Given the description of an element on the screen output the (x, y) to click on. 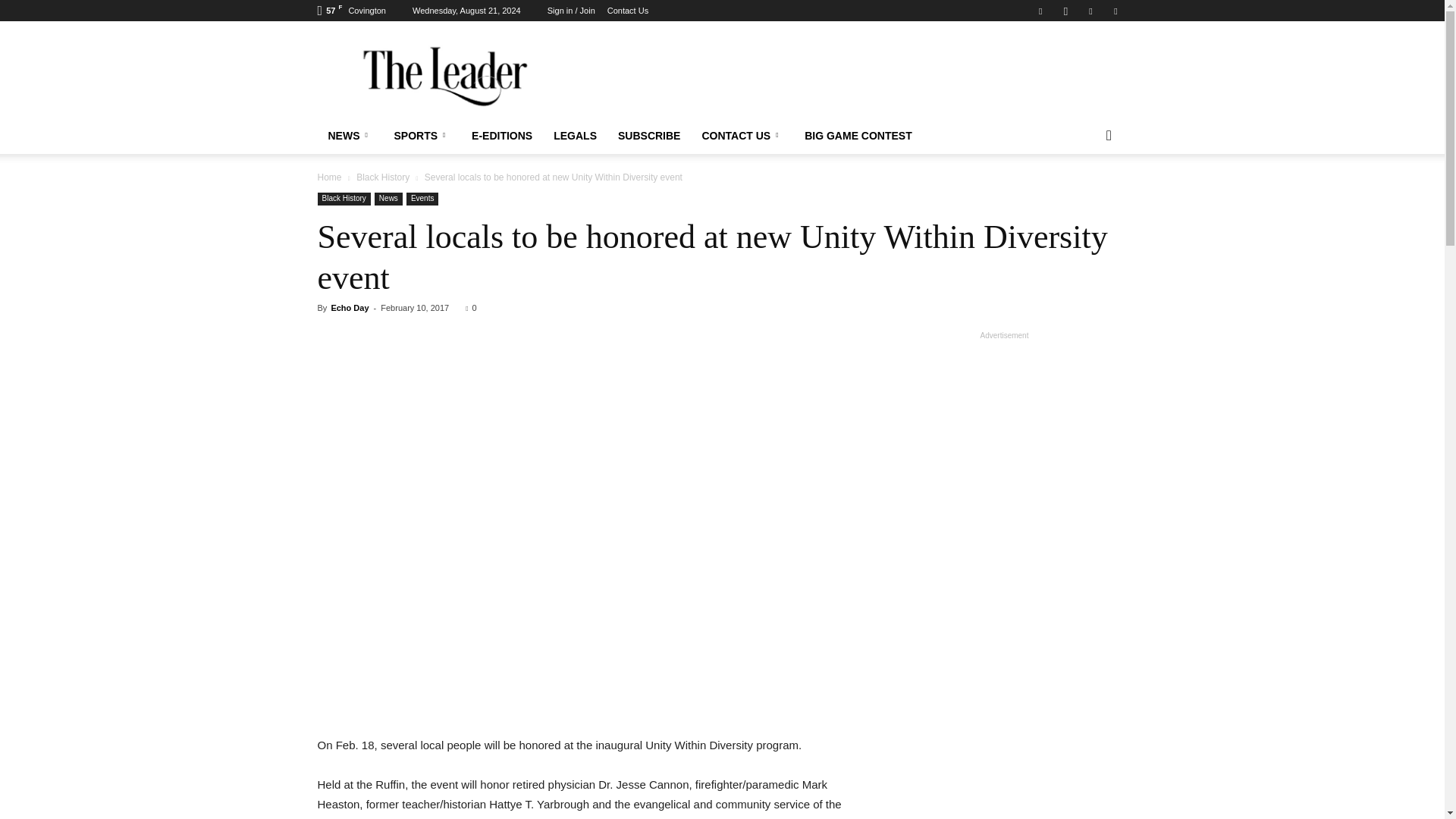
Twitter (1090, 10)
Instagram (1065, 10)
Youtube (1114, 10)
Facebook (1040, 10)
